Given the description of an element on the screen output the (x, y) to click on. 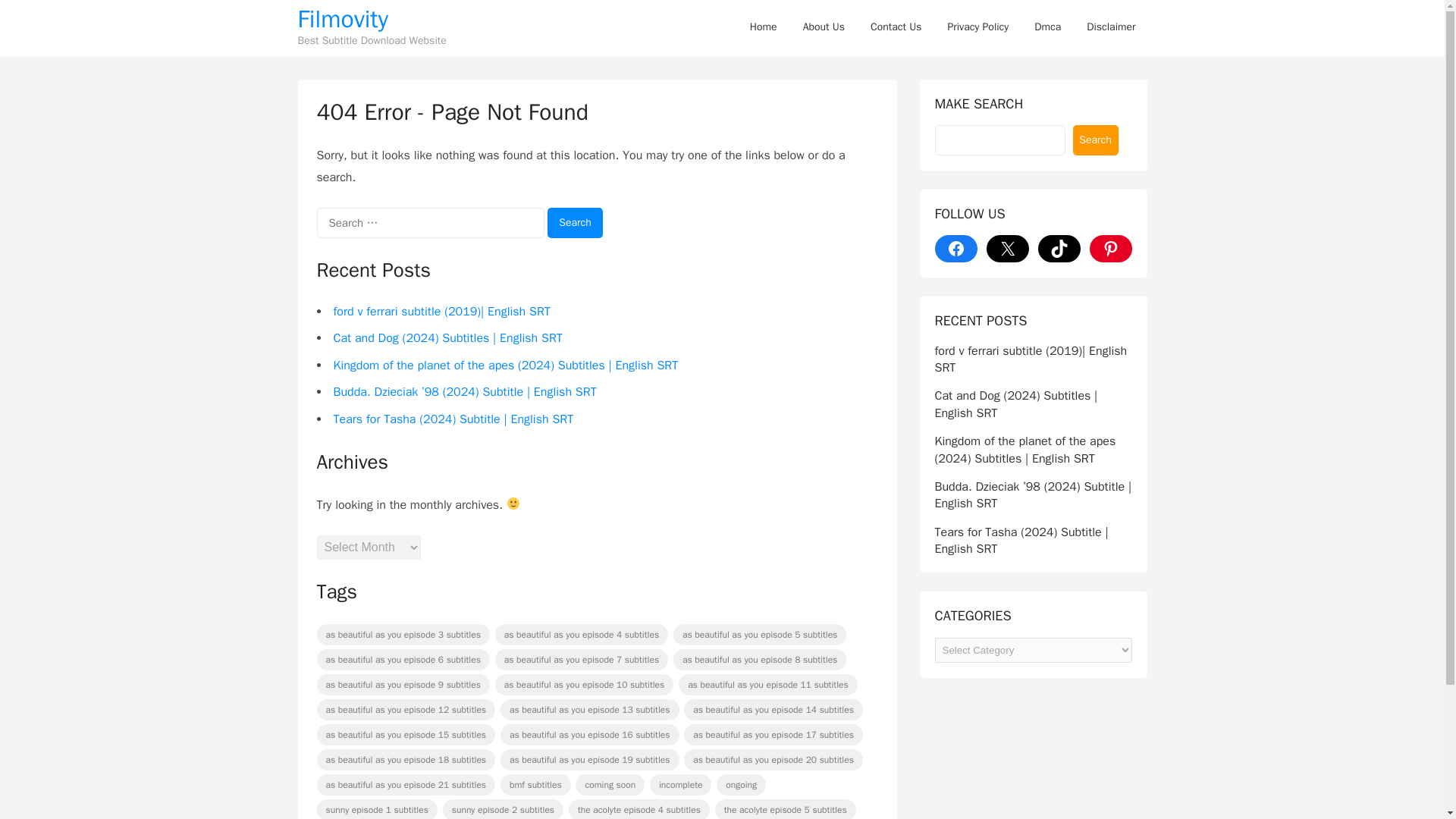
as beautiful as you episode 19 subtitles (589, 759)
as beautiful as you episode 20 subtitles (773, 759)
Privacy Policy (978, 27)
Contact Us (896, 27)
as beautiful as you episode 17 subtitles (773, 734)
as beautiful as you episode 4 subtitles (581, 634)
as beautiful as you episode 5 subtitles (758, 634)
as beautiful as you episode 9 subtitles (403, 684)
Search (574, 223)
as beautiful as you episode 11 subtitles (767, 684)
